Given the description of an element on the screen output the (x, y) to click on. 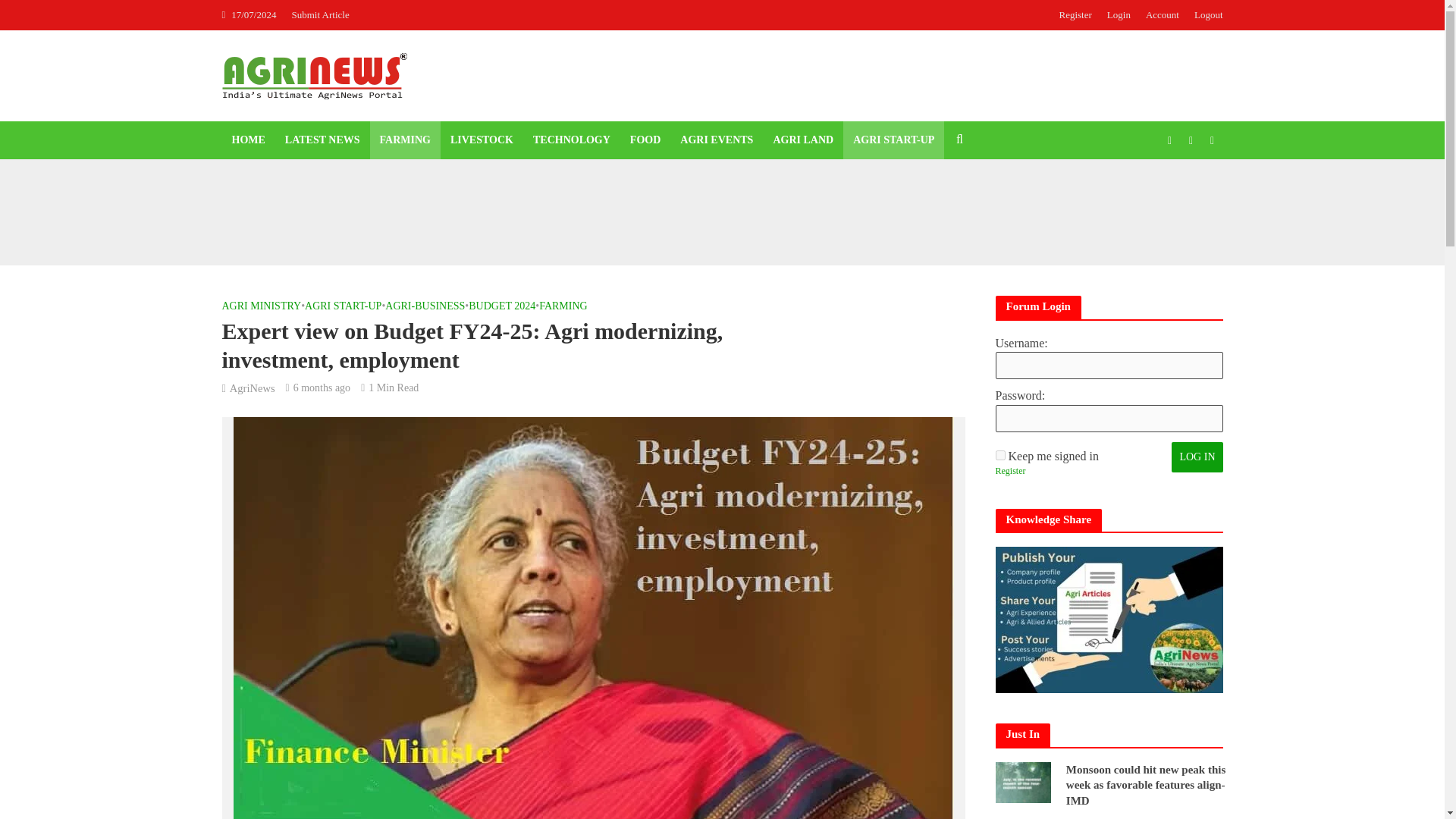
Knowledge Share (1108, 619)
Logout (1204, 15)
TECHNOLOGY (571, 139)
FOOD (644, 139)
Register (1075, 15)
FARMING (405, 139)
Register (1009, 471)
HOME (248, 139)
LIVESTOCK (481, 139)
Submit Article (323, 15)
LATEST NEWS (322, 139)
Login (1118, 15)
AGRI EVENTS (715, 139)
Account (1162, 15)
